Given the description of an element on the screen output the (x, y) to click on. 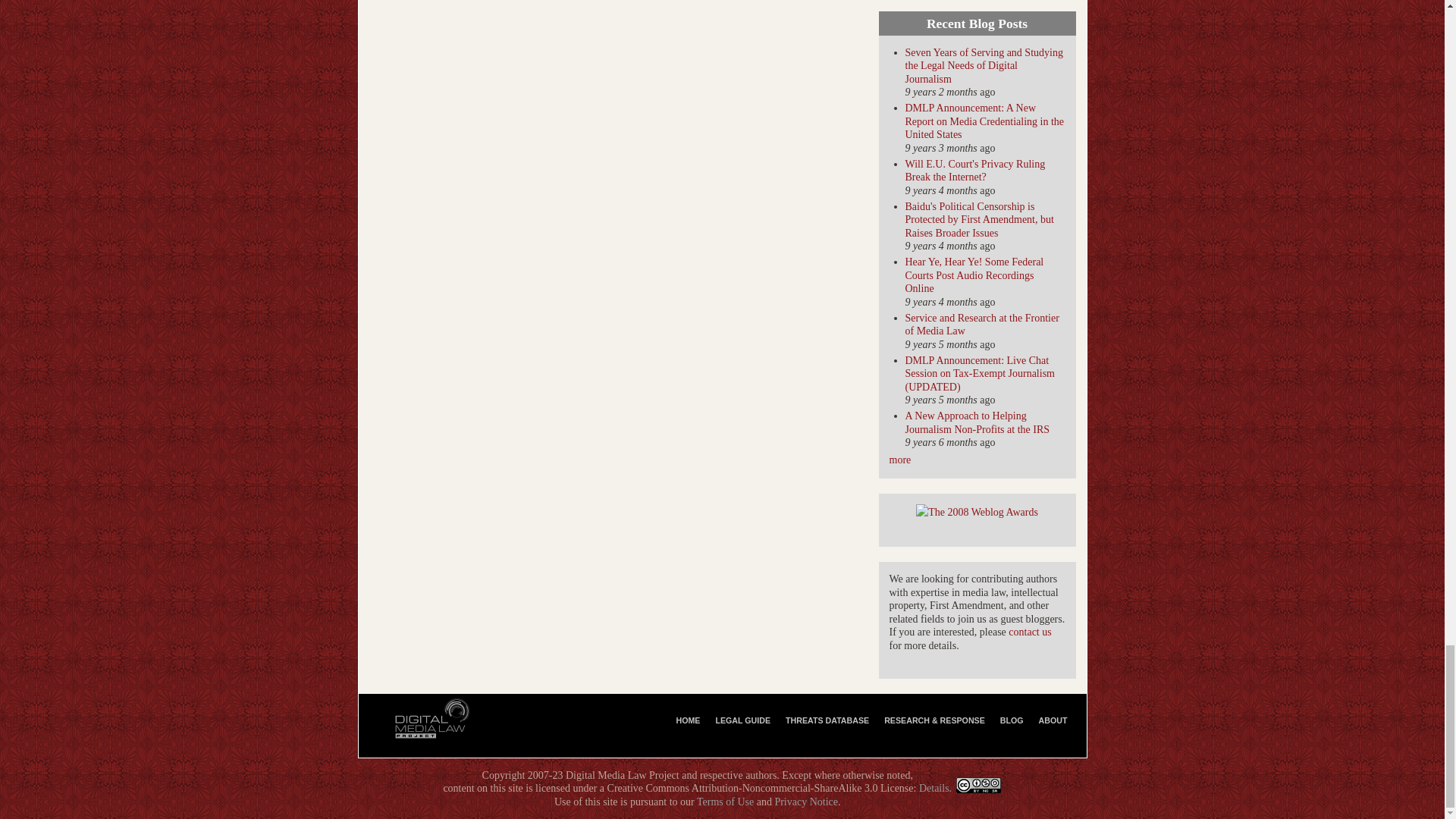
Digital Media Law Project Home Page (687, 720)
CMLP legal threats database (826, 720)
